Given the description of an element on the screen output the (x, y) to click on. 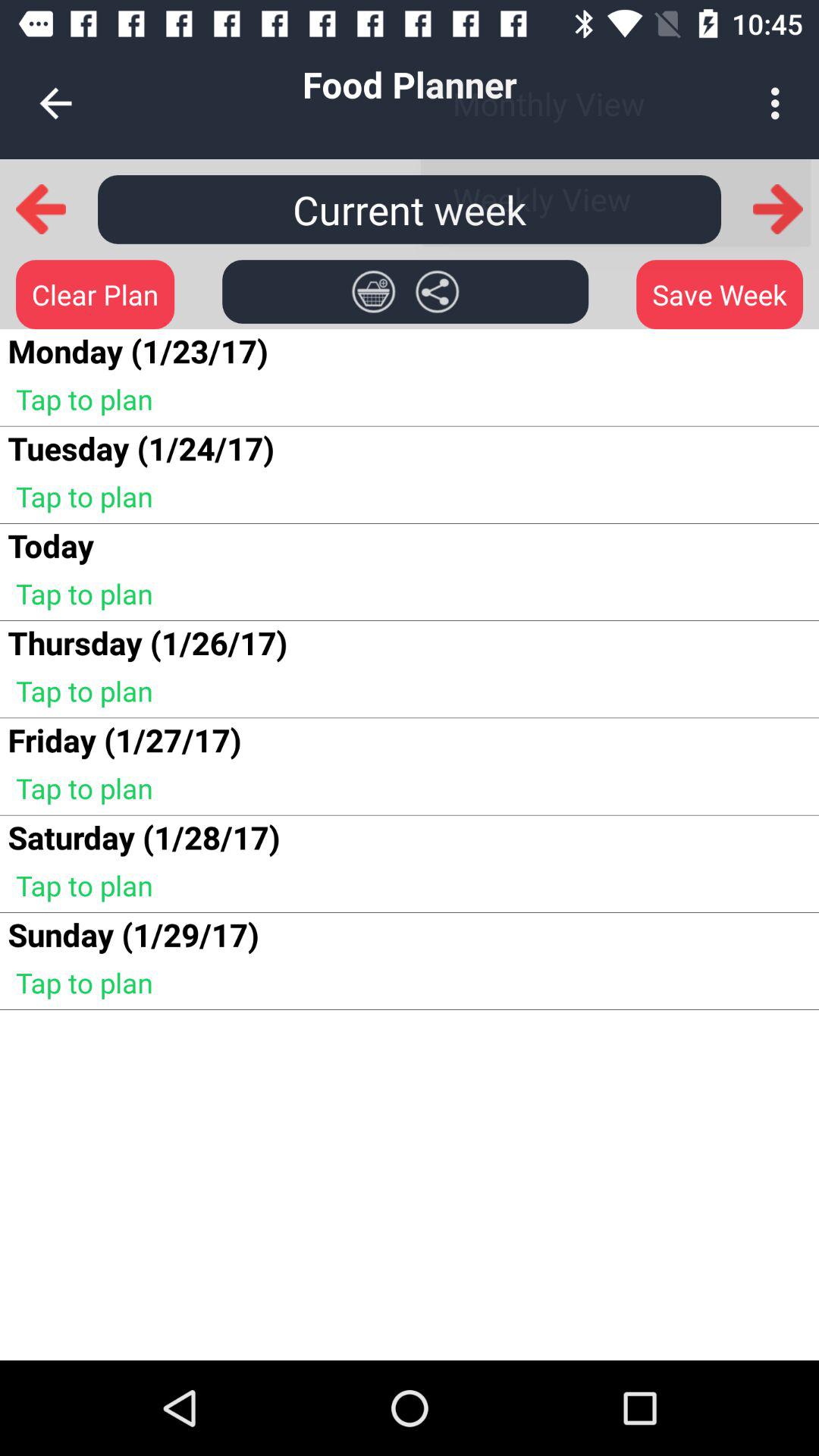
add food (373, 291)
